Given the description of an element on the screen output the (x, y) to click on. 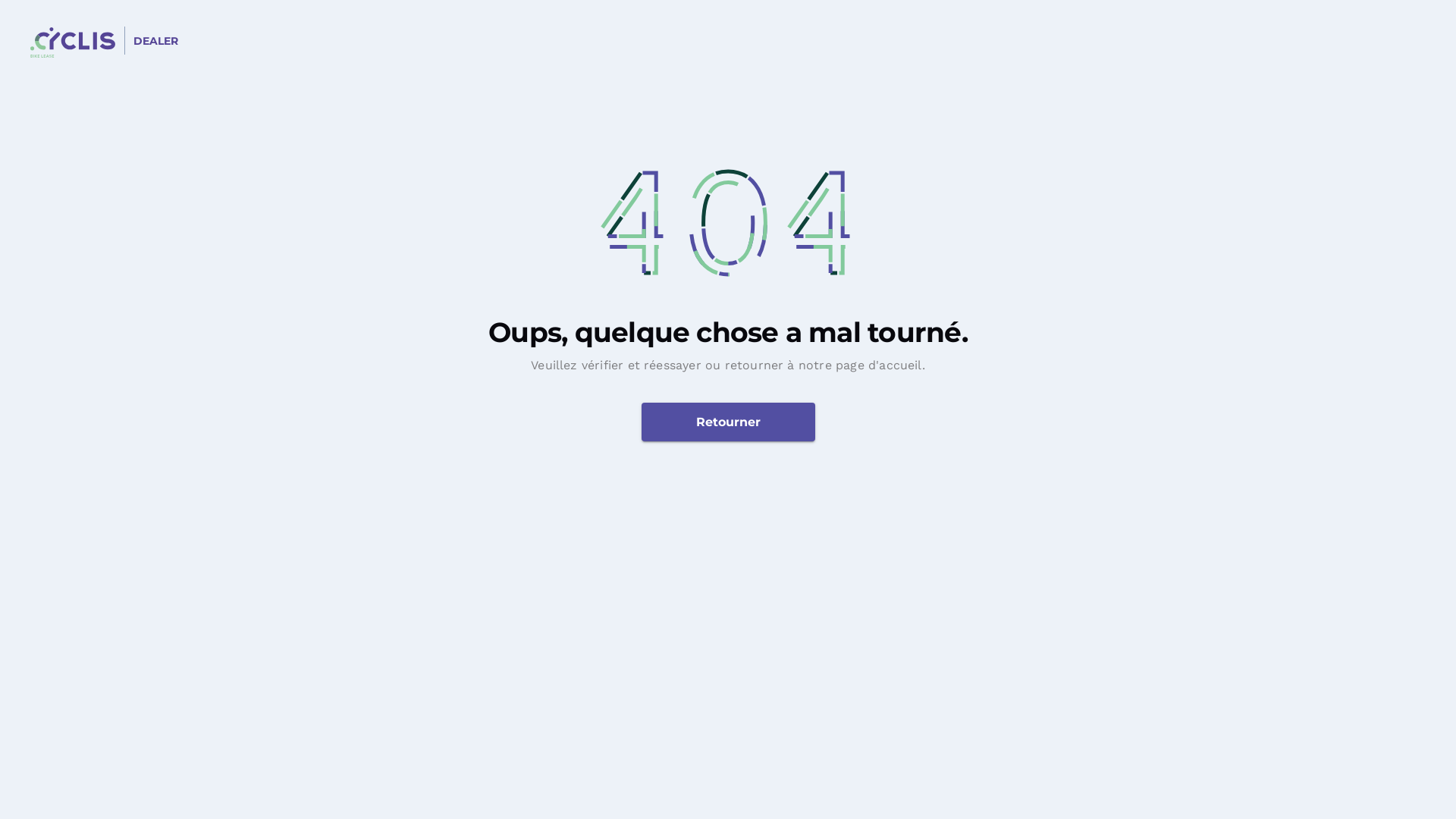
Retourner Element type: text (728, 421)
